Given the description of an element on the screen output the (x, y) to click on. 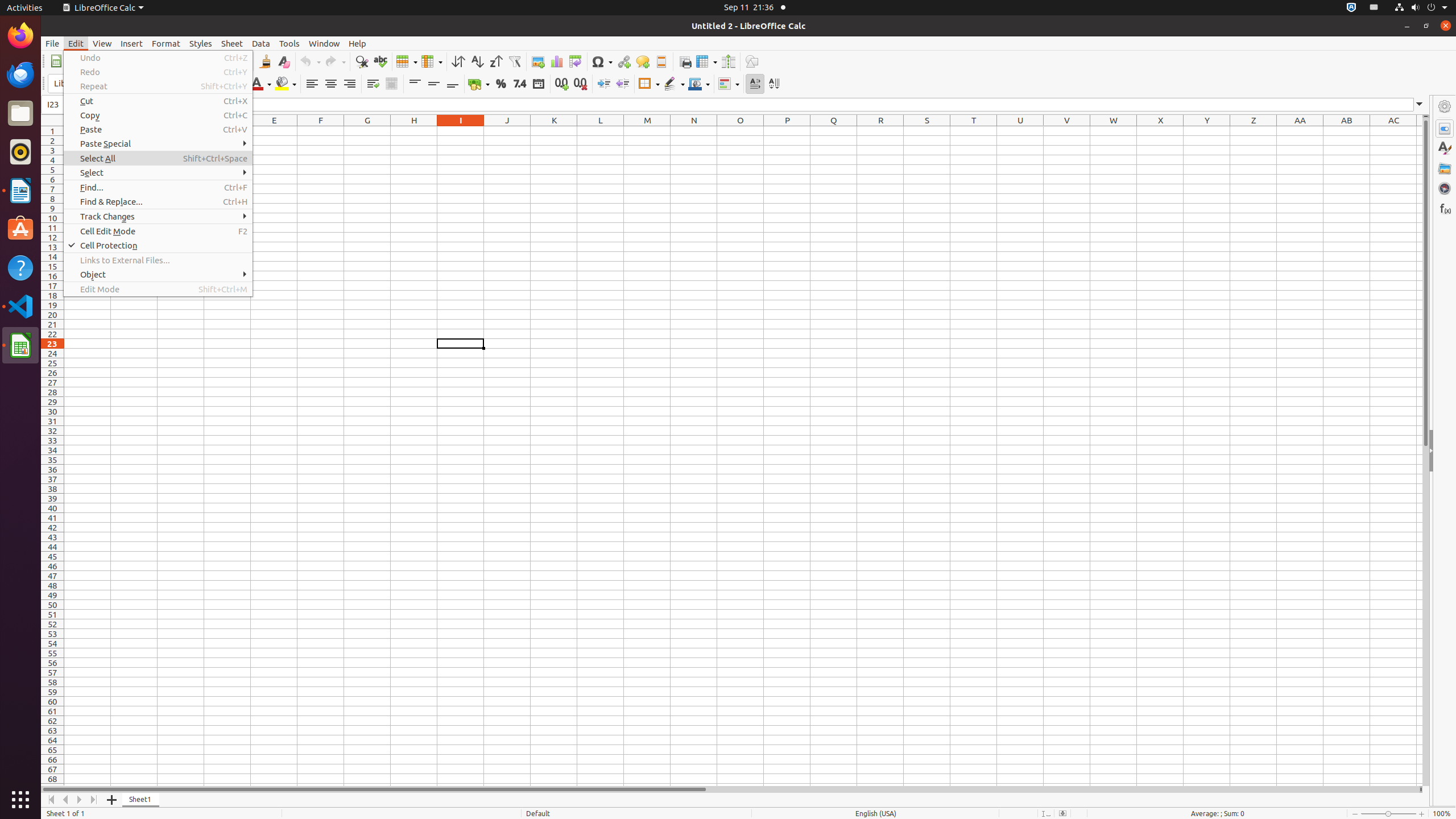
Decrease Element type: push-button (622, 83)
Apply Style Element type: text (41, 73)
Headers and Footers Element type: push-button (660, 61)
Currency Element type: push-button (478, 83)
AB1 Element type: table-cell (1346, 130)
